Given the description of an element on the screen output the (x, y) to click on. 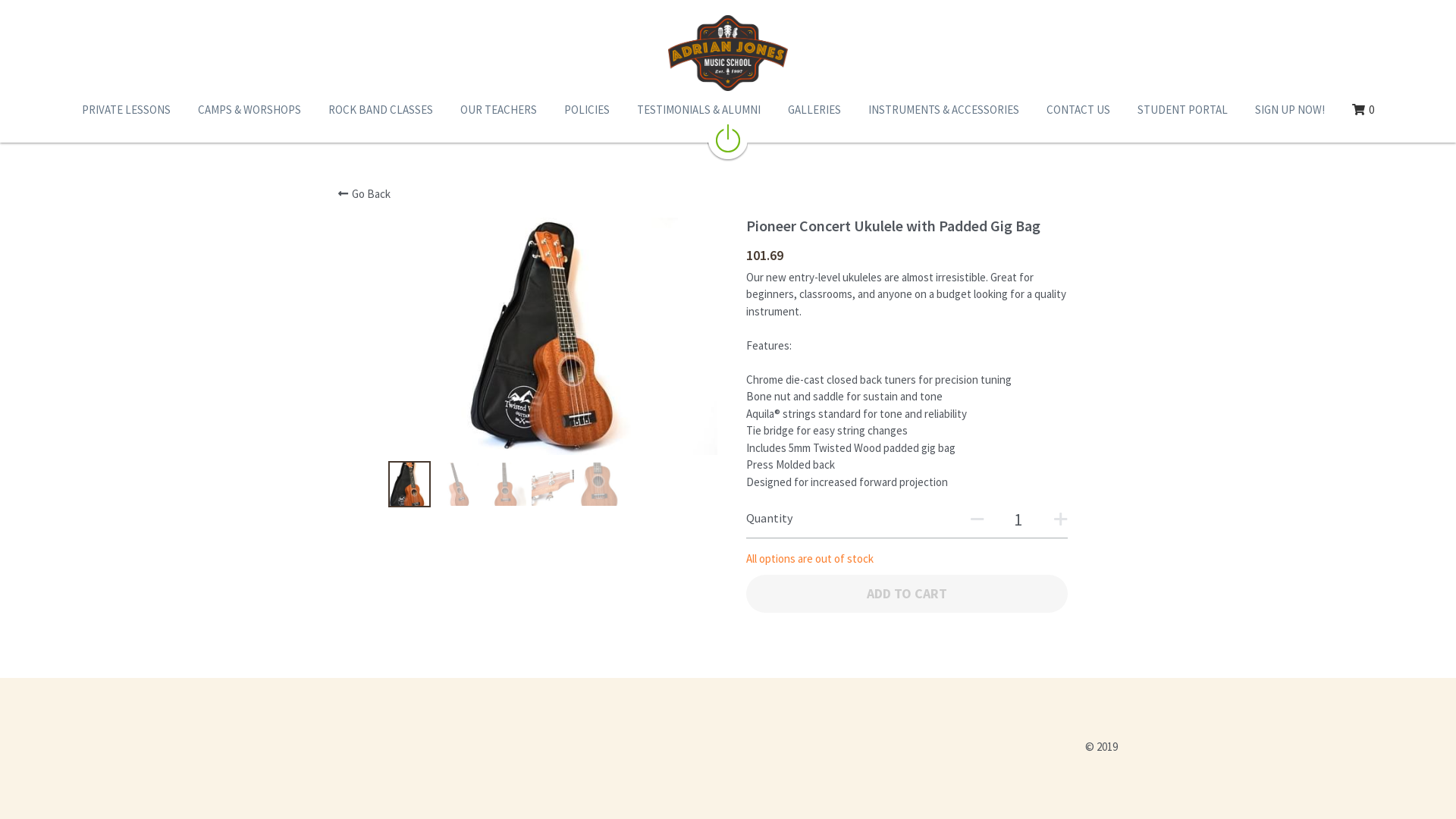
PRIVATE LESSONS Element type: text (125, 109)
ROCK BAND CLASSES Element type: text (380, 109)
POLICIES Element type: text (586, 109)
TESTIMONIALS & ALUMNI Element type: text (698, 109)
CONTACT US Element type: text (1078, 109)
CAMPS & WORSHOPS Element type: text (249, 109)
INSTRUMENTS & ACCESSORIES Element type: text (943, 109)
OUR TEACHERS Element type: text (498, 109)
STUDENT PORTAL Element type: text (1182, 109)
GALLERIES Element type: text (813, 109)
SIGN UP NOW! Element type: text (1289, 109)
